Given the description of an element on the screen output the (x, y) to click on. 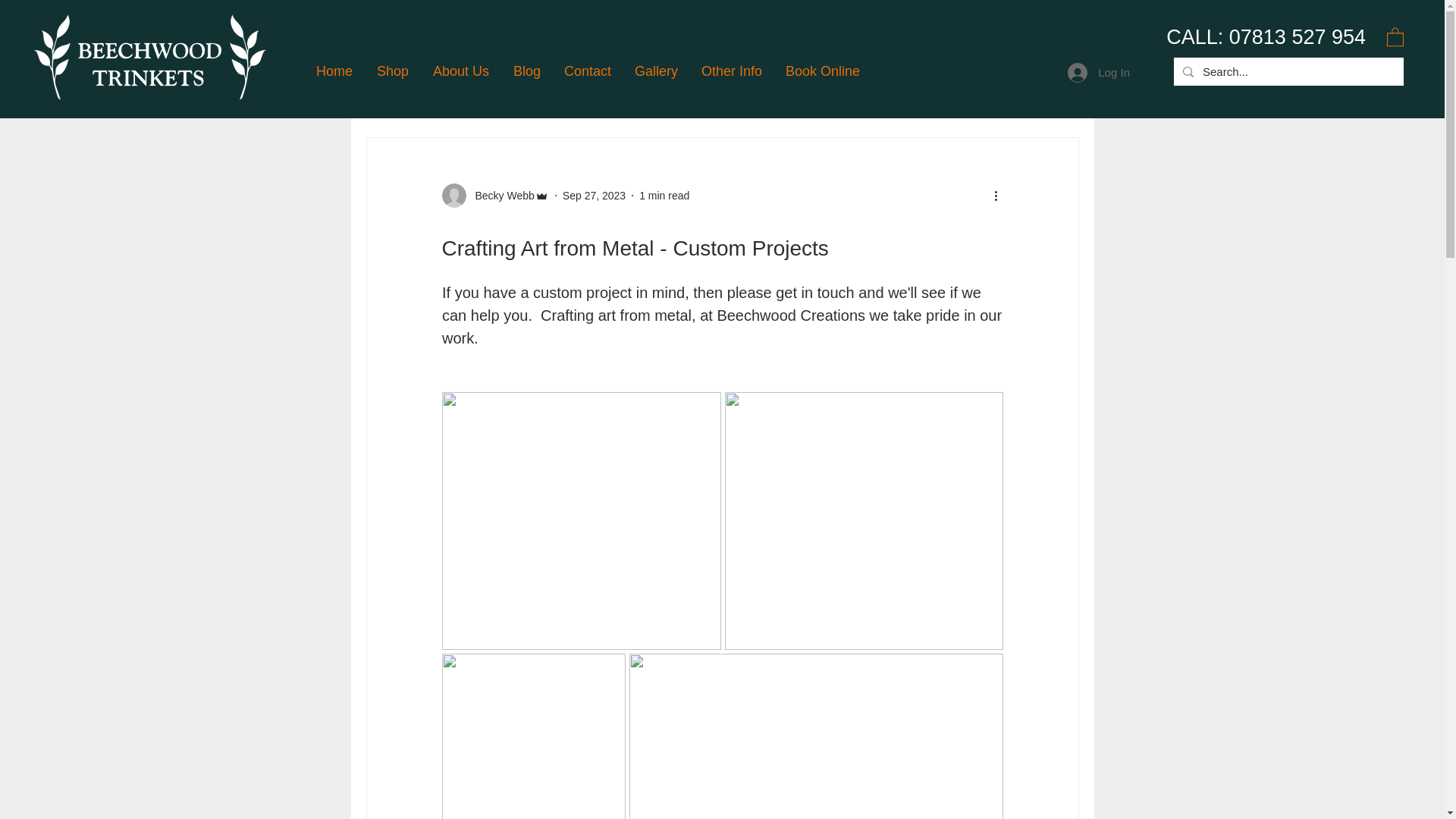
Becky Webb (494, 195)
About Us (462, 70)
Gift Fairs (603, 91)
1 min read (663, 195)
News (786, 91)
Retail Stores (861, 91)
Home (334, 70)
Gallery (656, 70)
All Posts (385, 91)
Log In (1098, 72)
